Given the description of an element on the screen output the (x, y) to click on. 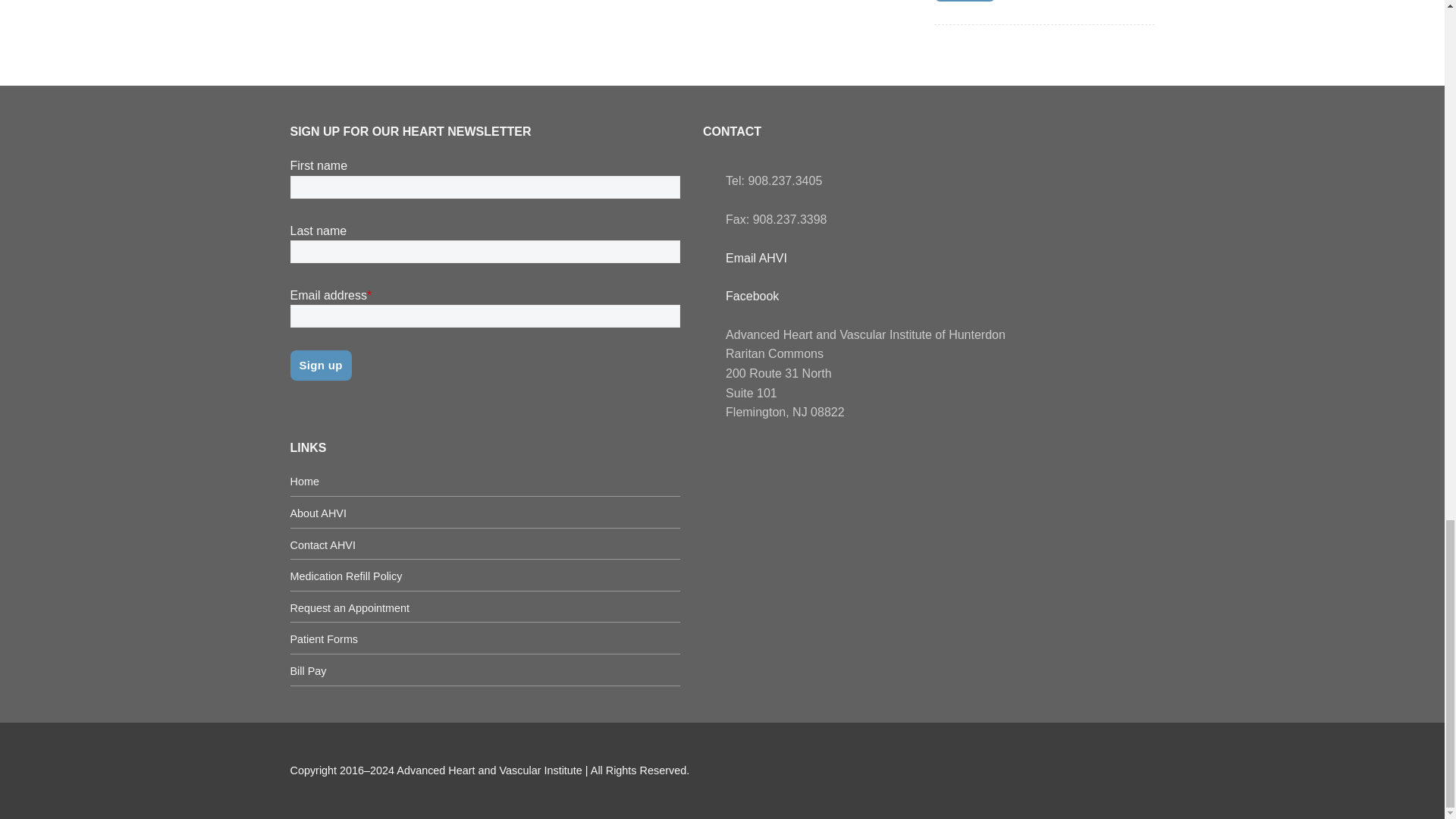
Sign up (964, 0)
Sign up (319, 365)
